Given the description of an element on the screen output the (x, y) to click on. 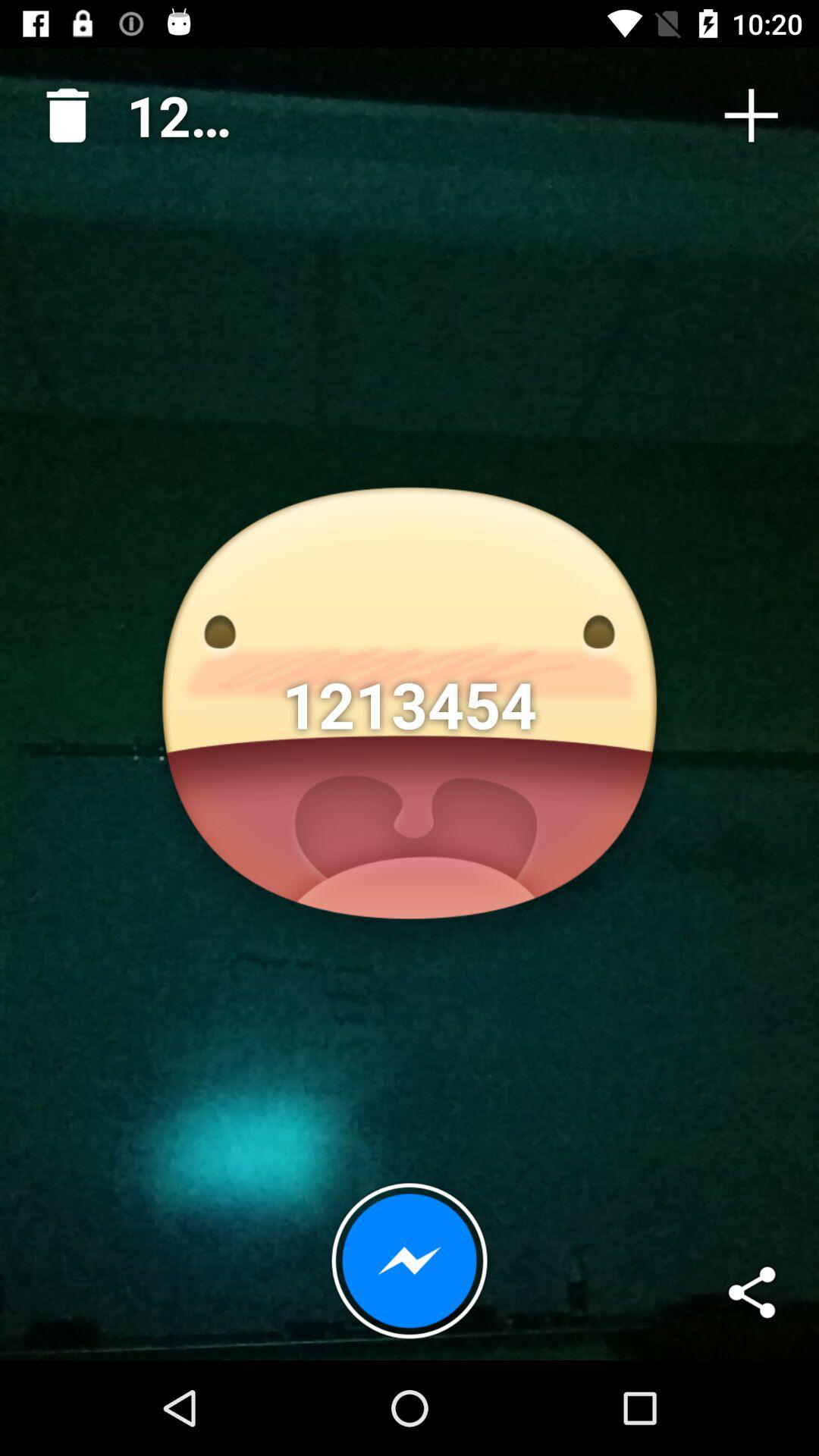
select the icon to the left of 1213454 item (61, 109)
